Given the description of an element on the screen output the (x, y) to click on. 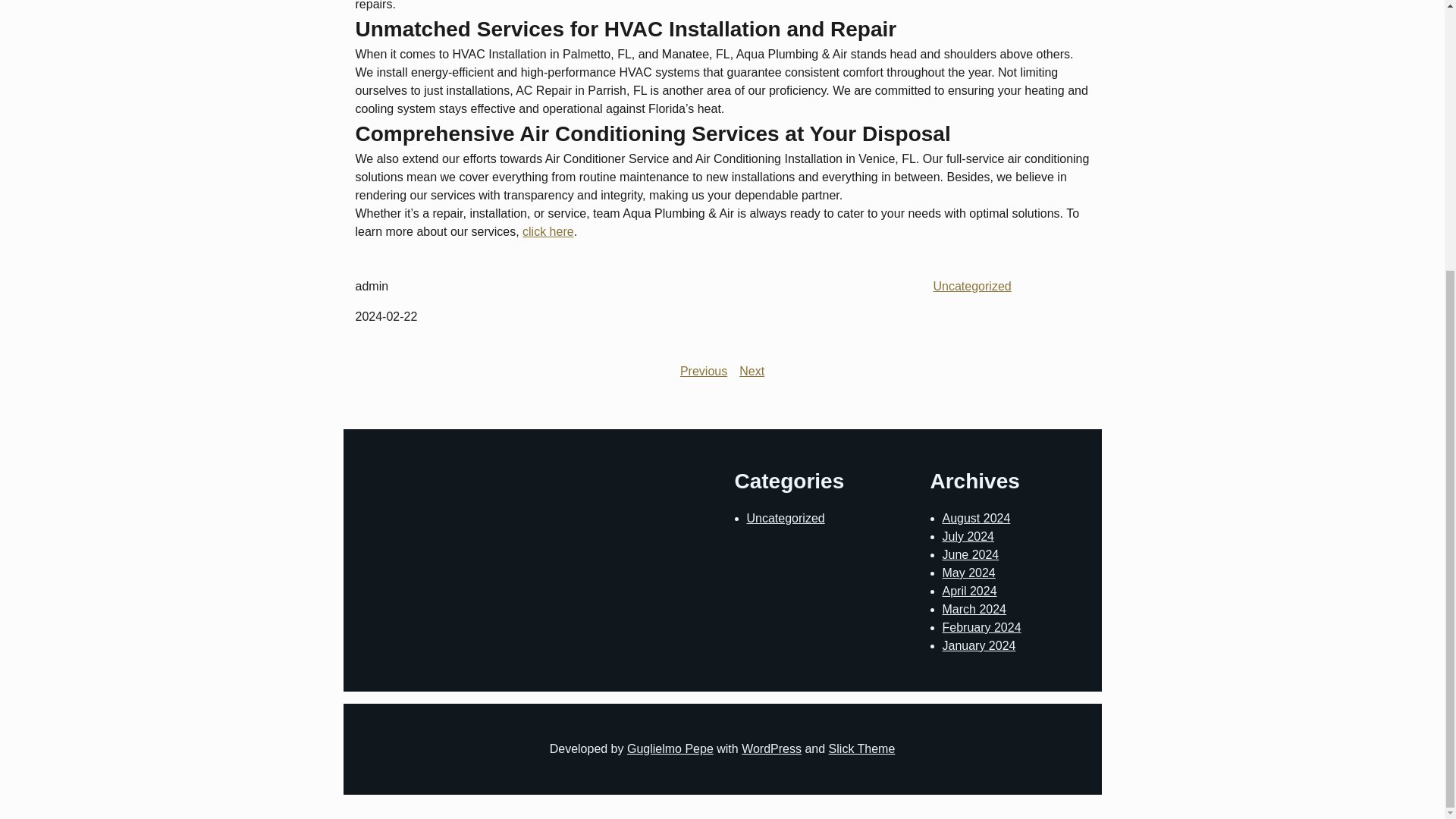
January 2024 (978, 645)
Next (751, 370)
Uncategorized (784, 517)
June 2024 (970, 554)
click here (547, 231)
April 2024 (968, 590)
Guglielmo Pepe (670, 748)
WordPress (771, 748)
March 2024 (974, 608)
Previous (702, 370)
